Given the description of an element on the screen output the (x, y) to click on. 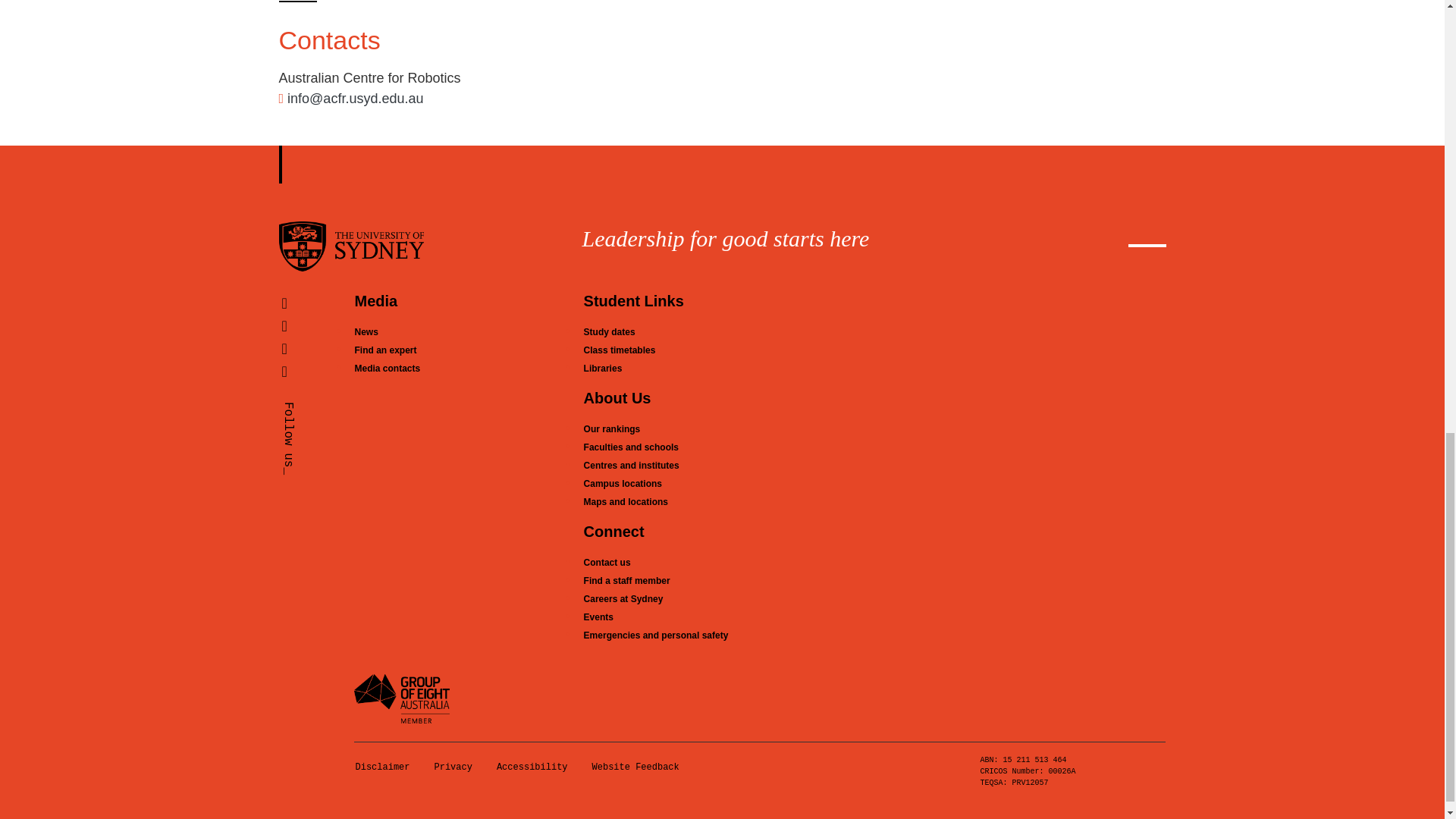
Disclaimer (382, 767)
Privacy (452, 767)
Website Feedback (635, 767)
Accessibility (531, 767)
